Given the description of an element on the screen output the (x, y) to click on. 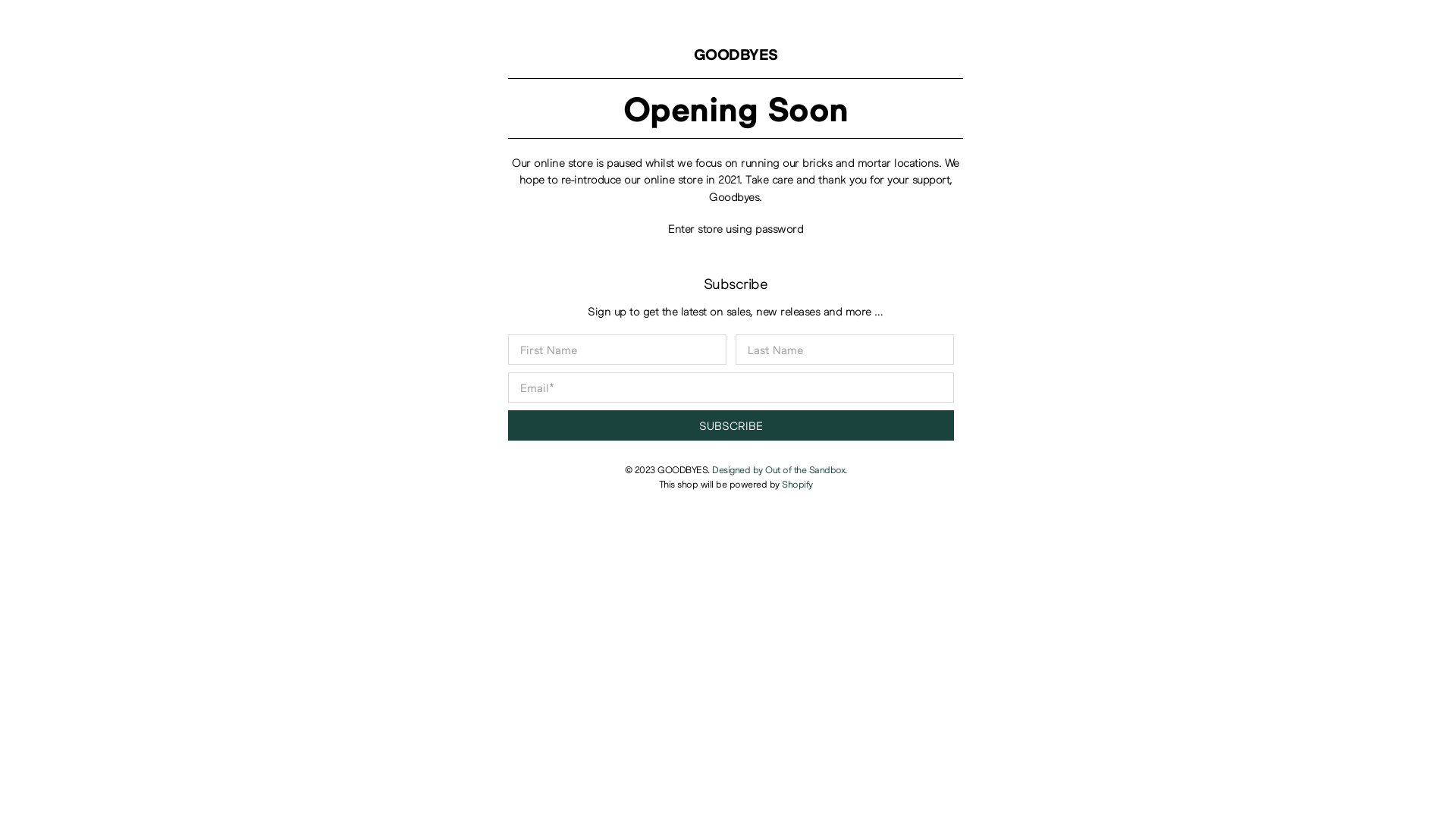
Enter store using password Element type: text (735, 228)
SUBSCRIBE Element type: text (730, 425)
Shopify Element type: text (796, 483)
Designed by Out of the Sandbox Element type: text (778, 469)
Enter Element type: text (727, 434)
